Given the description of an element on the screen output the (x, y) to click on. 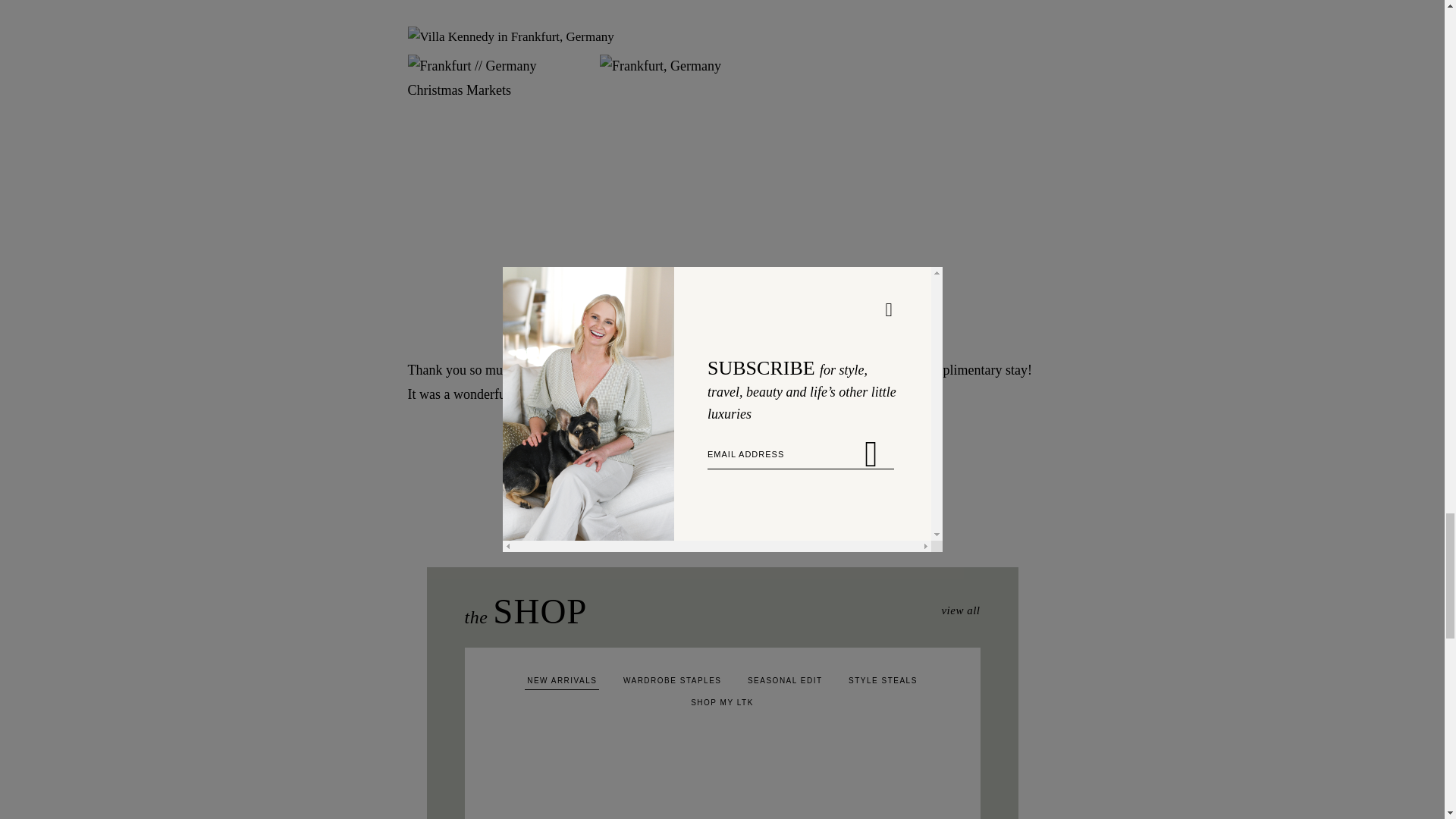
theSHOP (525, 610)
STYLE STEALS (882, 683)
WARDROBE STAPLES (672, 683)
NEW ARRIVALS (561, 683)
SEASONAL EDIT (785, 683)
view all (959, 610)
SHOP MY LTK (721, 704)
